Given the description of an element on the screen output the (x, y) to click on. 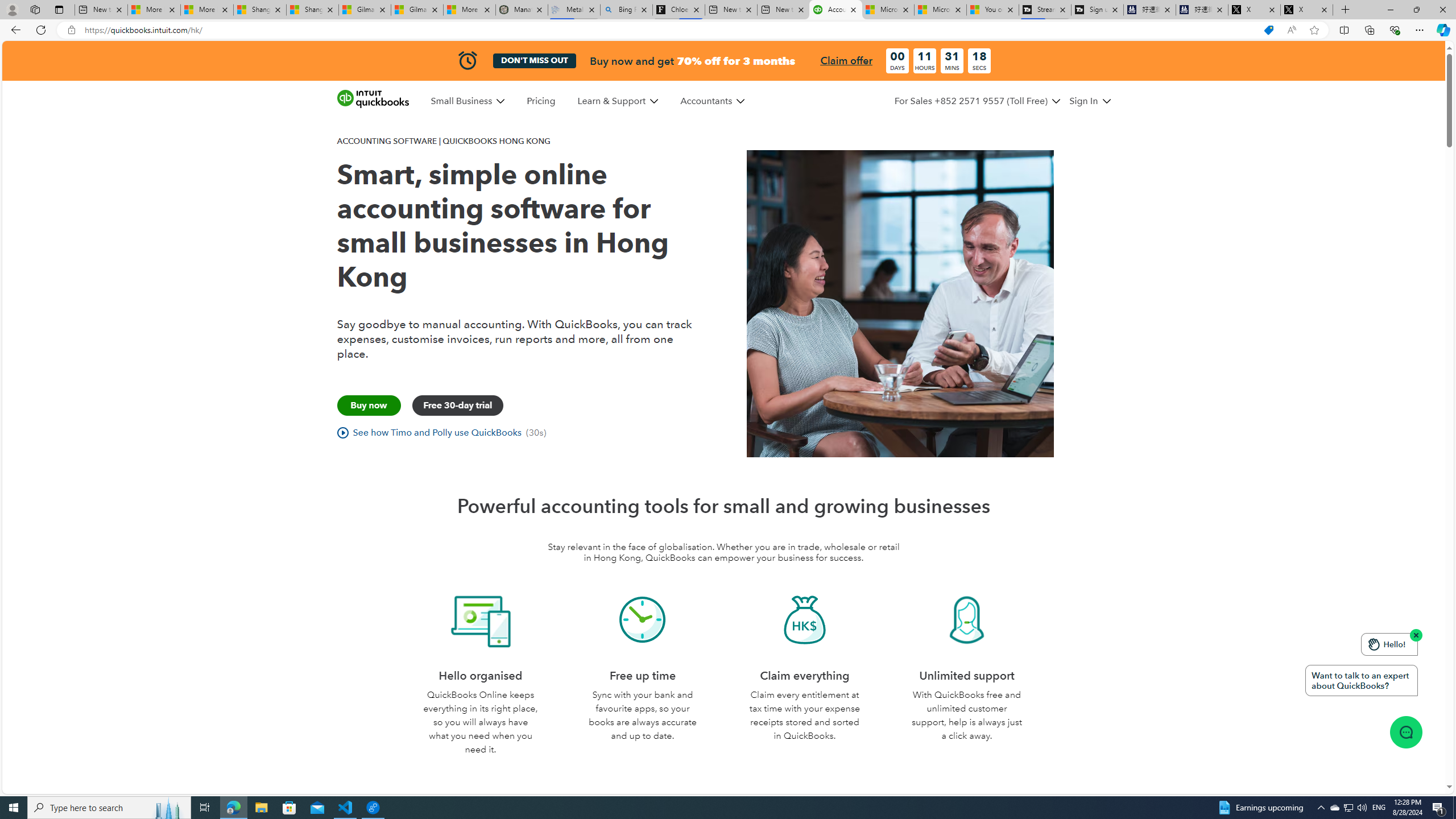
Claim everything (804, 619)
Class: Videolink_play__52e8a474 (341, 432)
Free 30-day trial (457, 405)
Close (1442, 9)
Unlimited support (967, 619)
Minimize (1390, 9)
New tab (782, 9)
Accountants (705, 101)
Microsoft Start Sports (887, 9)
Back (13, 29)
Class: MenuItem_dDown__f585abf6 MenuItem_white__f585abf6 (1106, 101)
Hello organised (480, 619)
Workspaces (34, 9)
Split screen (1344, 29)
Accounting Software | QuickBooks Hong Kong (835, 9)
